Given the description of an element on the screen output the (x, y) to click on. 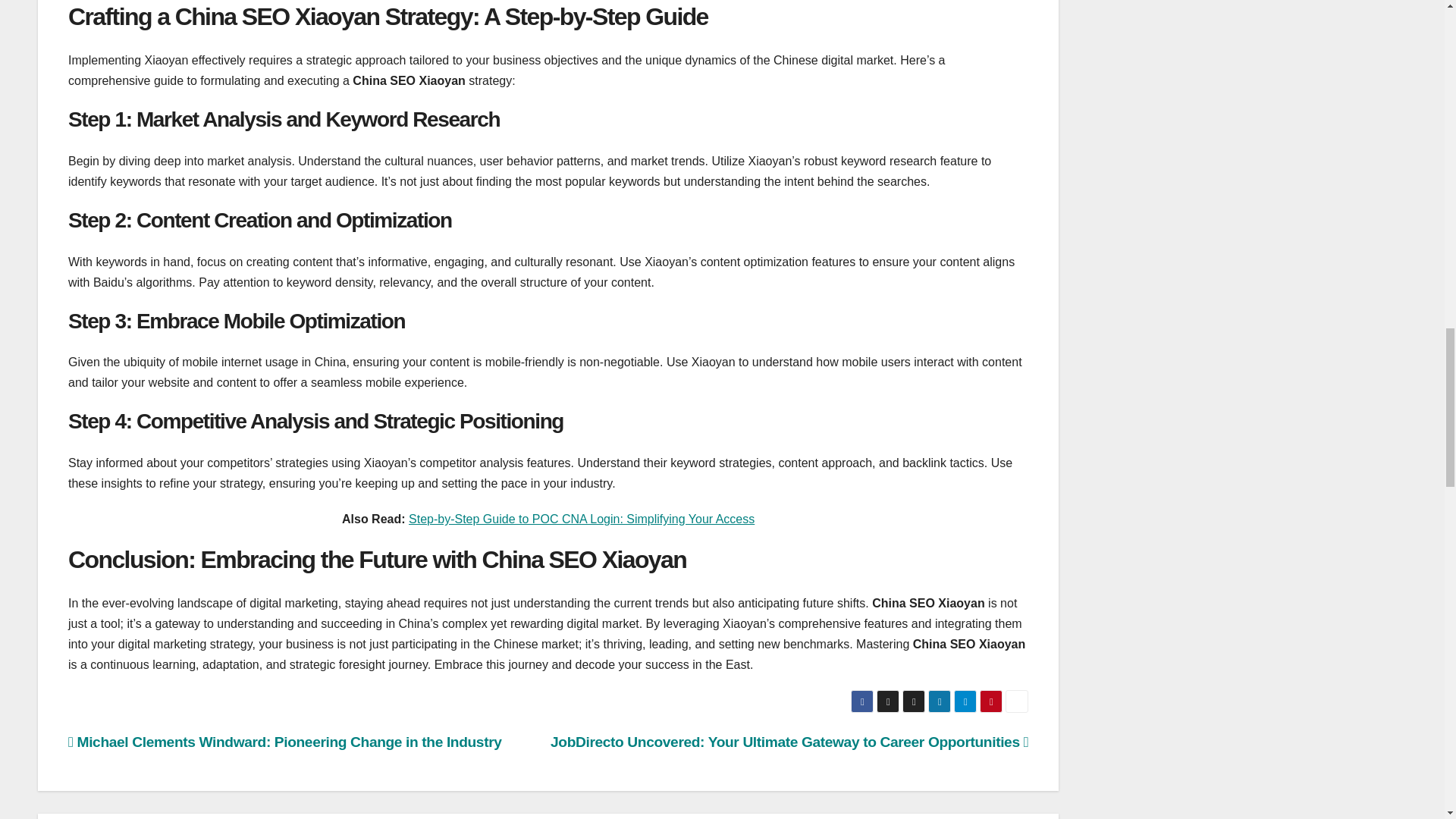
Step-by-Step Guide to POC CNA Login: Simplifying Your Access (581, 518)
Michael Clements Windward: Pioneering Change in the Industry (285, 741)
